Given the description of an element on the screen output the (x, y) to click on. 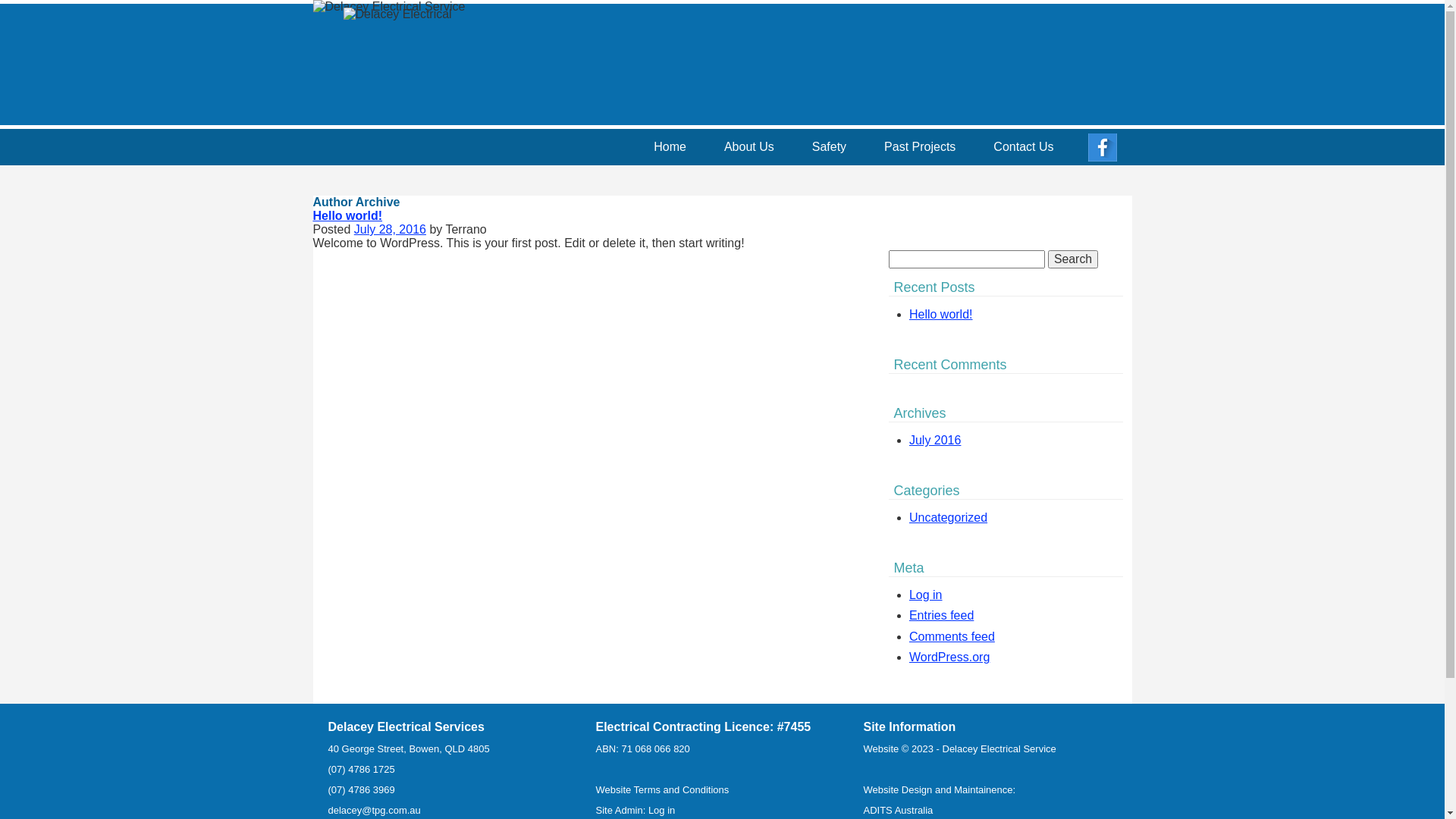
July 28, 2016 Element type: text (390, 228)
Home Element type: text (669, 146)
About Us Element type: text (749, 146)
Search Element type: text (1073, 259)
Entries feed Element type: text (941, 614)
Uncategorized Element type: text (948, 517)
Safety Element type: text (829, 146)
Hello world! Element type: text (940, 313)
WordPress.org Element type: text (949, 656)
delacey@tpg.com.au Element type: text (373, 809)
ADITS Australia Element type: text (897, 809)
Website Terms and Conditions Element type: text (662, 789)
Hello world! Element type: text (347, 215)
Past Projects Element type: text (919, 146)
Comments feed Element type: text (951, 636)
Contact Us Element type: text (1023, 146)
July 2016 Element type: text (935, 439)
Log in Element type: text (925, 594)
Log in Element type: text (661, 809)
